Given the description of an element on the screen output the (x, y) to click on. 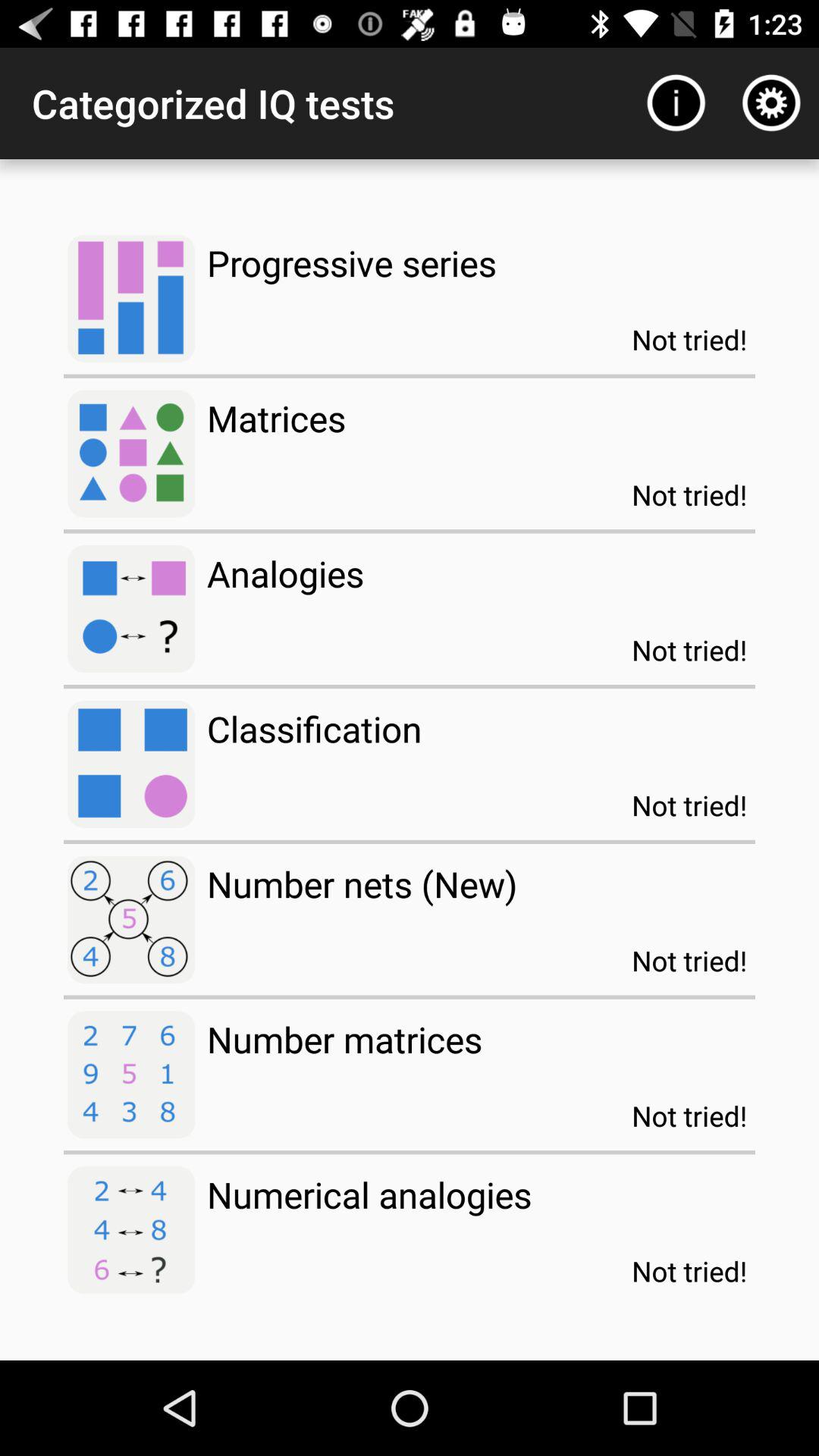
click the number nets (new) item (362, 883)
